Given the description of an element on the screen output the (x, y) to click on. 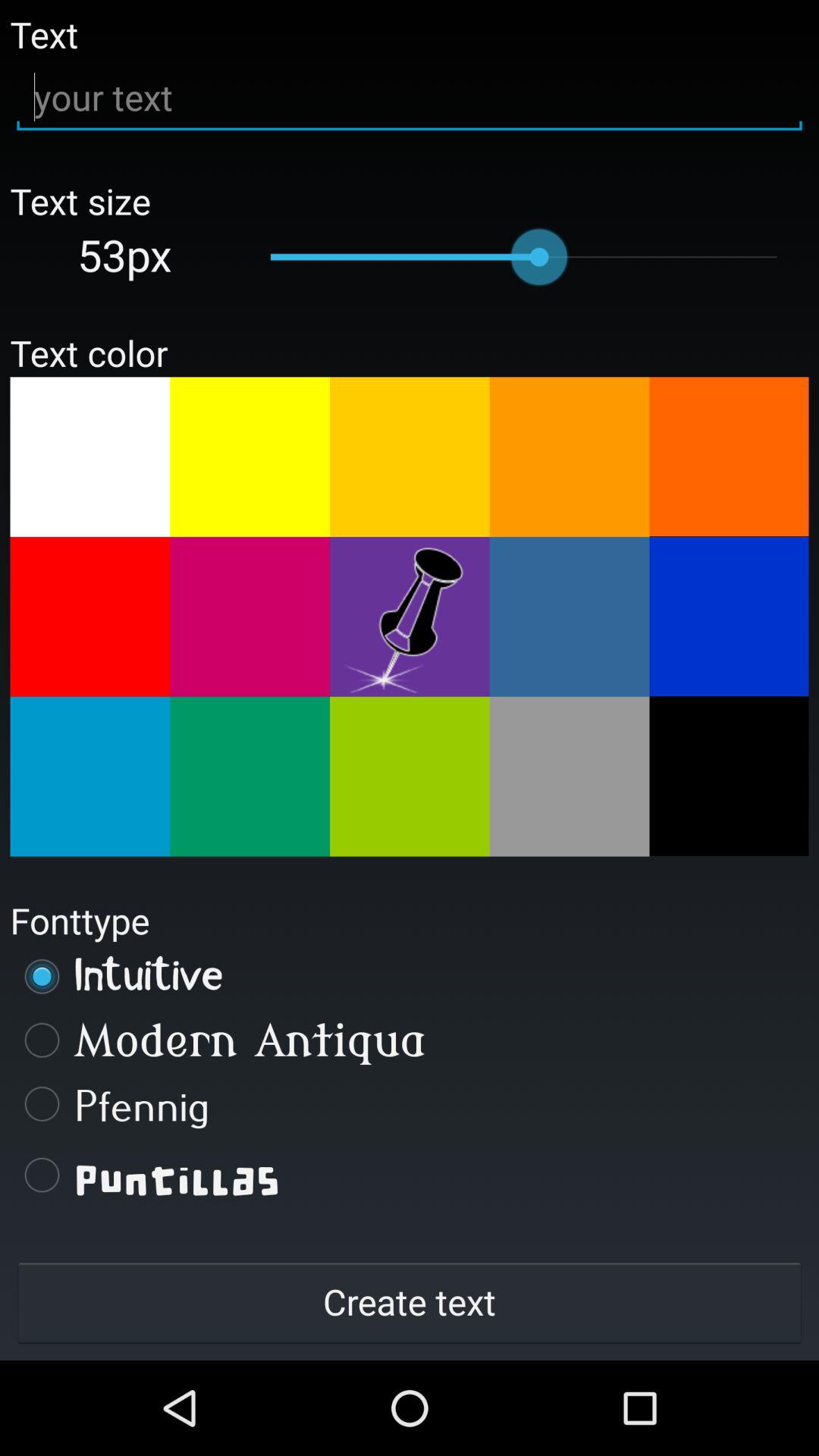
choose text color (90, 456)
